Given the description of an element on the screen output the (x, y) to click on. 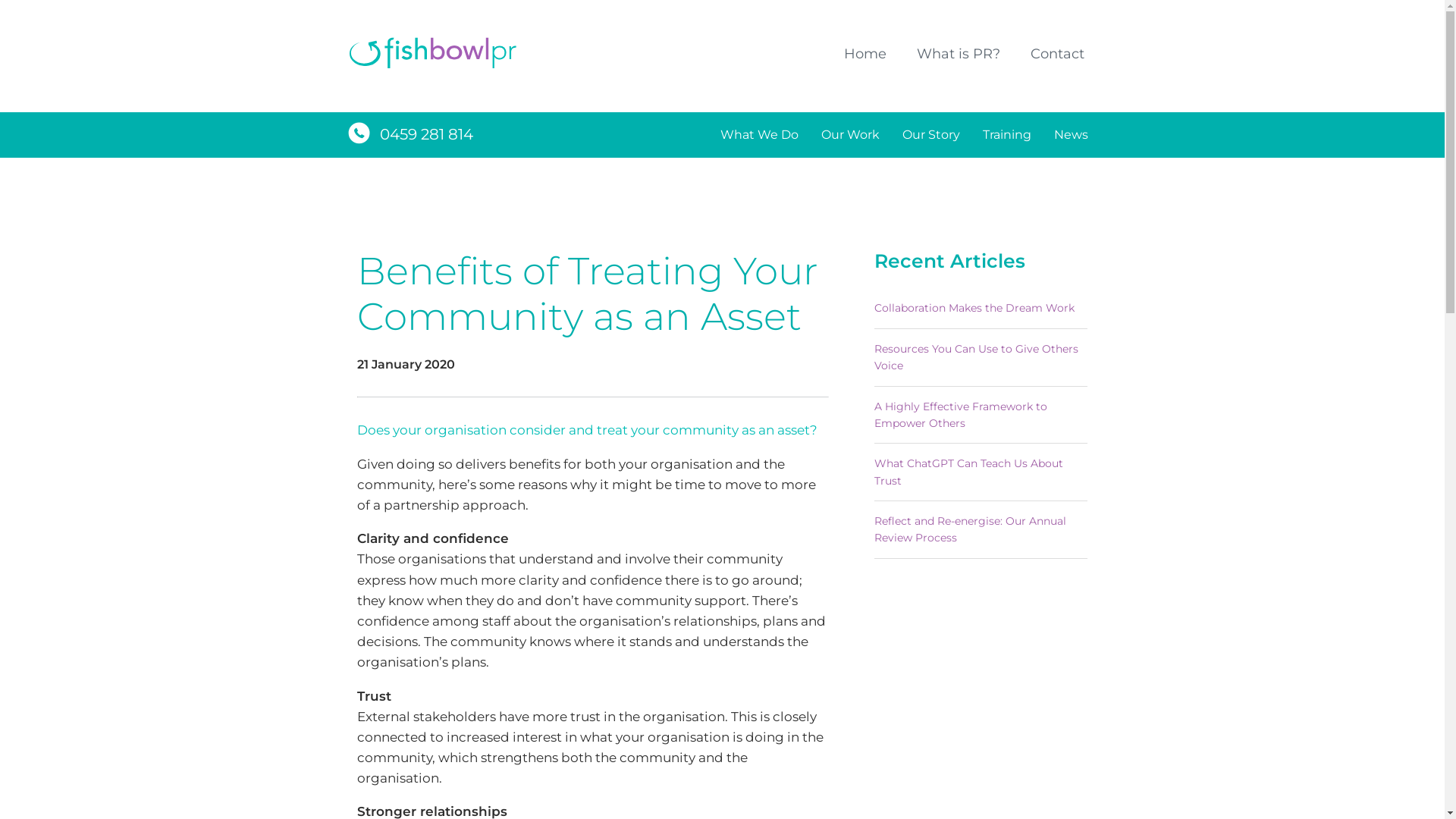
Reflect and Re-energise: Our Annual Review Process Element type: text (980, 529)
Home Element type: text (864, 54)
Our Story Element type: text (930, 134)
News Element type: text (1069, 134)
Training Element type: text (1005, 134)
What is PR? Element type: text (957, 54)
0459 281 814 Element type: text (425, 134)
What We Do Element type: text (758, 134)
Collaboration Makes the Dream Work Element type: text (980, 307)
A Highly Effective Framework to Empower Others Element type: text (980, 415)
Our Work Element type: text (850, 134)
Resources You Can Use to Give Others Voice Element type: text (980, 357)
Contact Element type: text (1056, 54)
What ChatGPT Can Teach Us About Trust Element type: text (980, 472)
